Given the description of an element on the screen output the (x, y) to click on. 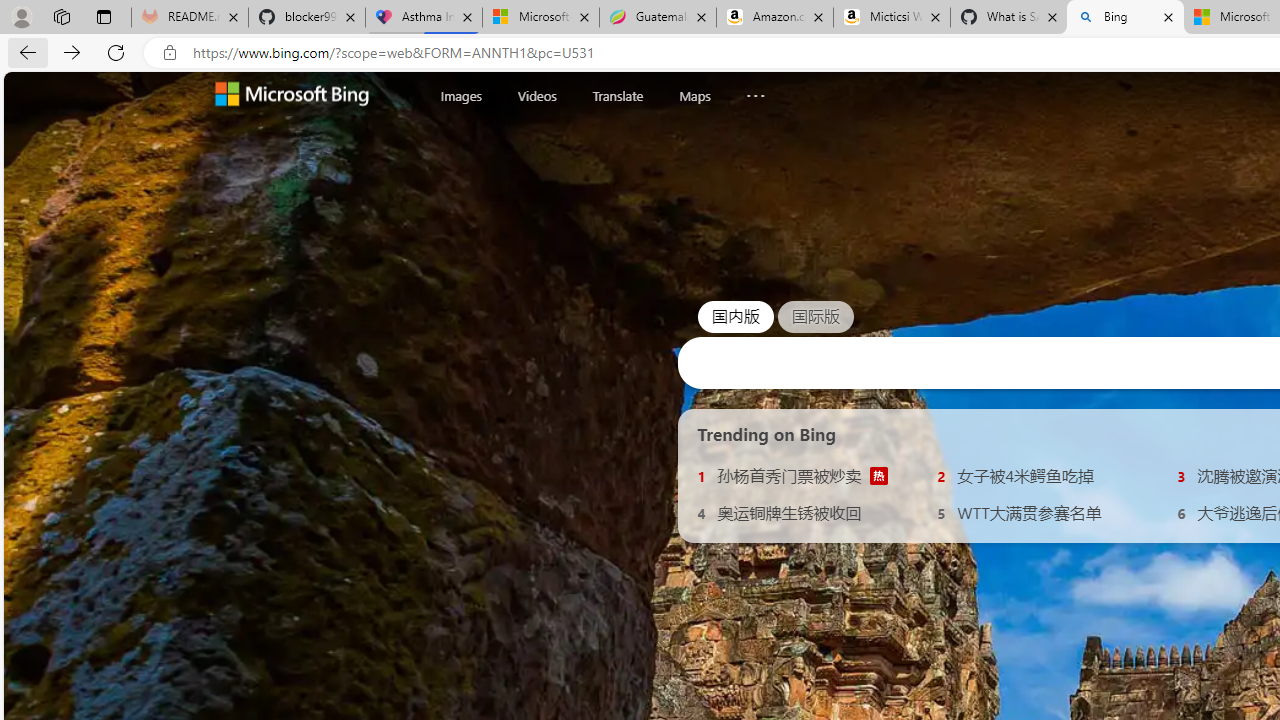
Videos (536, 95)
Bing (1124, 17)
Maps (694, 95)
Images (461, 95)
Class: scopes  (620, 95)
Images (461, 95)
More (755, 91)
Translate (617, 95)
